Given the description of an element on the screen output the (x, y) to click on. 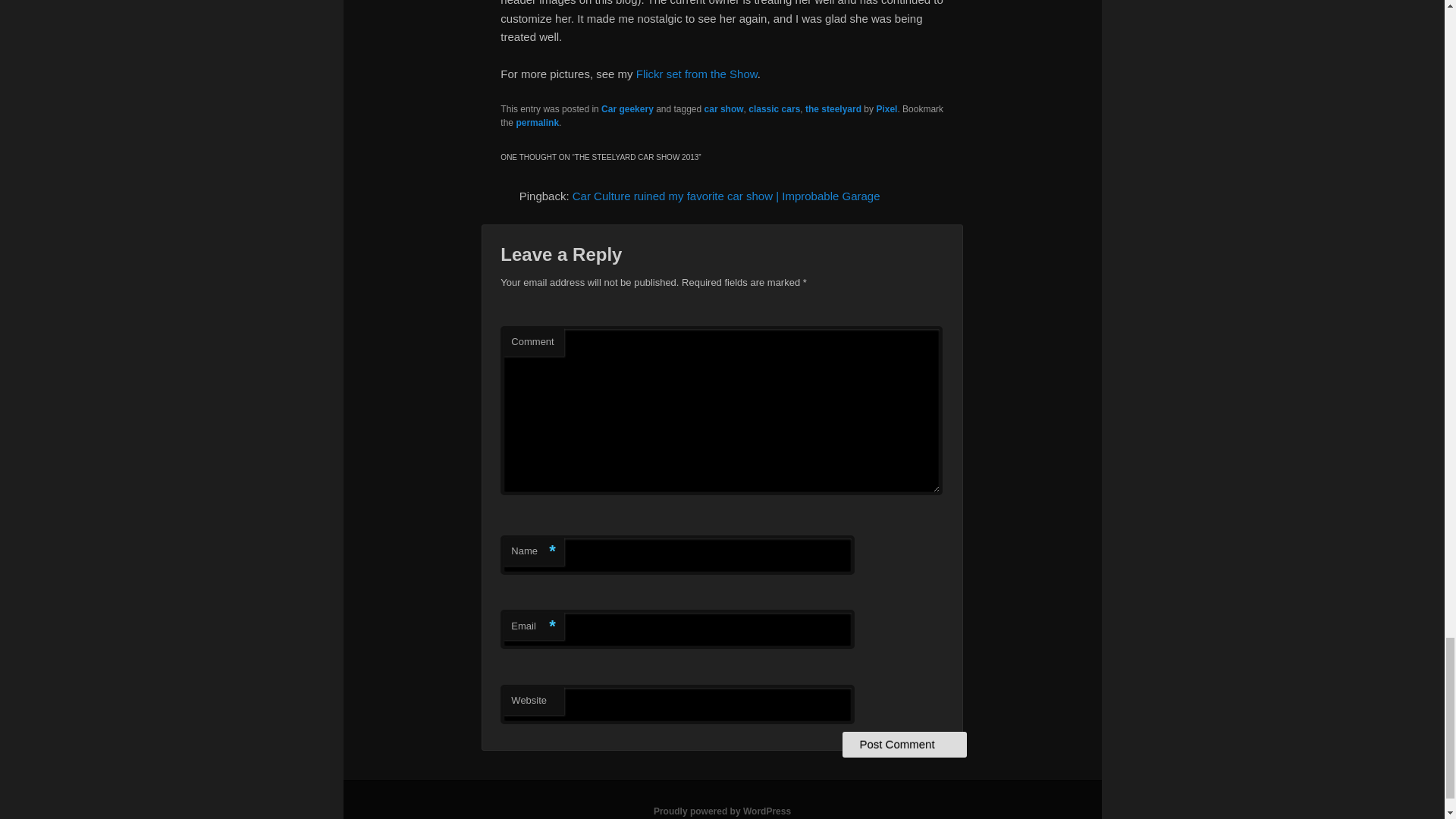
Proudly powered by WordPress (721, 810)
classic cars (773, 109)
Post Comment (904, 744)
Pixel (886, 109)
the steelyard (833, 109)
Car geekery (627, 109)
Post Comment (904, 744)
permalink (537, 122)
Permalink to The Steelyard Car Show 2013 (537, 122)
car show (724, 109)
